Given the description of an element on the screen output the (x, y) to click on. 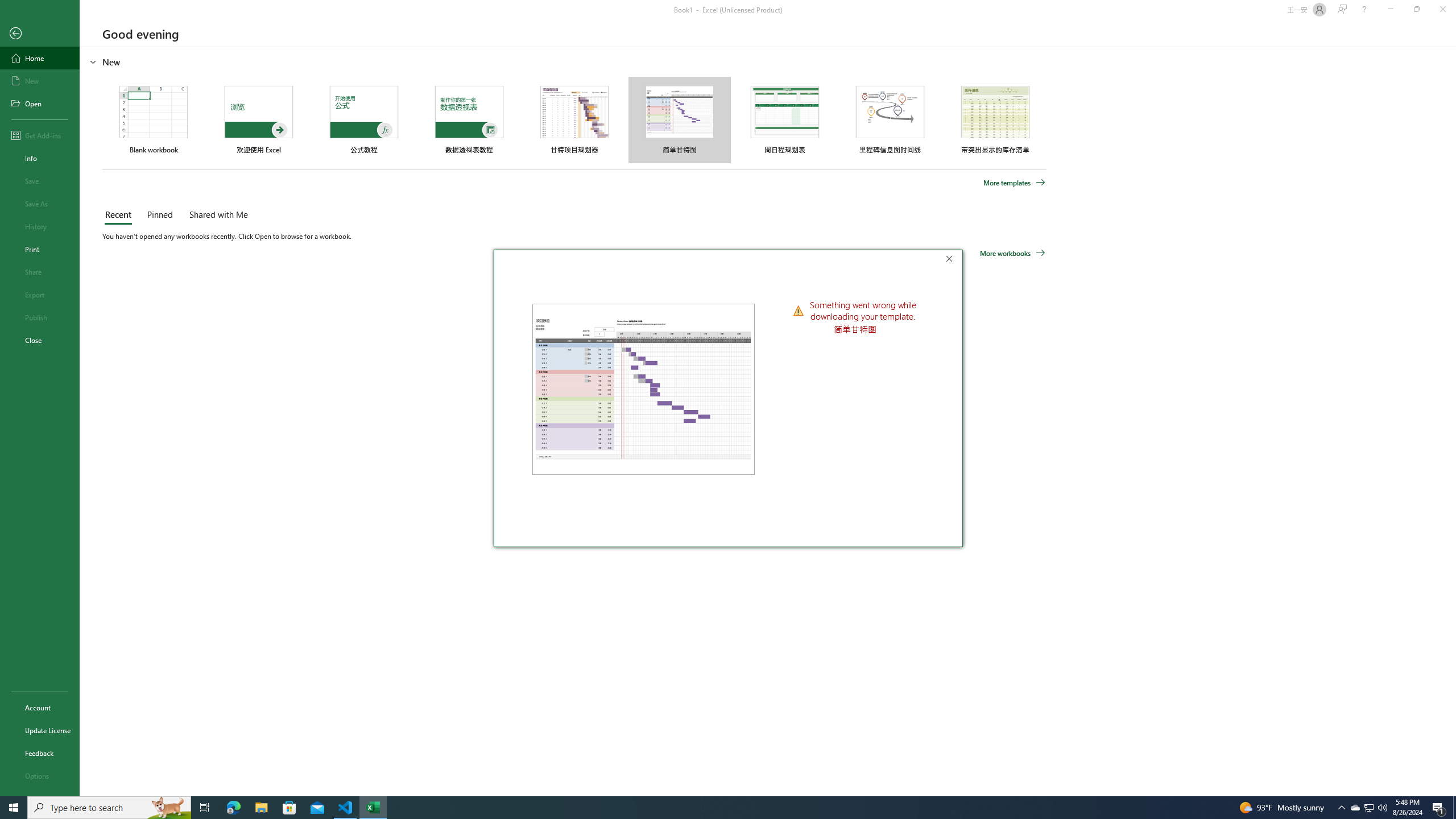
Class: NetUIImage (798, 310)
Running applications (717, 807)
History (40, 225)
Update License (40, 730)
Microsoft Edge (233, 807)
Blank workbook (153, 119)
Task View (204, 807)
Type here to search (108, 807)
Save As (40, 203)
Shared with Me (215, 215)
Options (40, 775)
Microsoft Store (289, 807)
Close (951, 259)
